Given the description of an element on the screen output the (x, y) to click on. 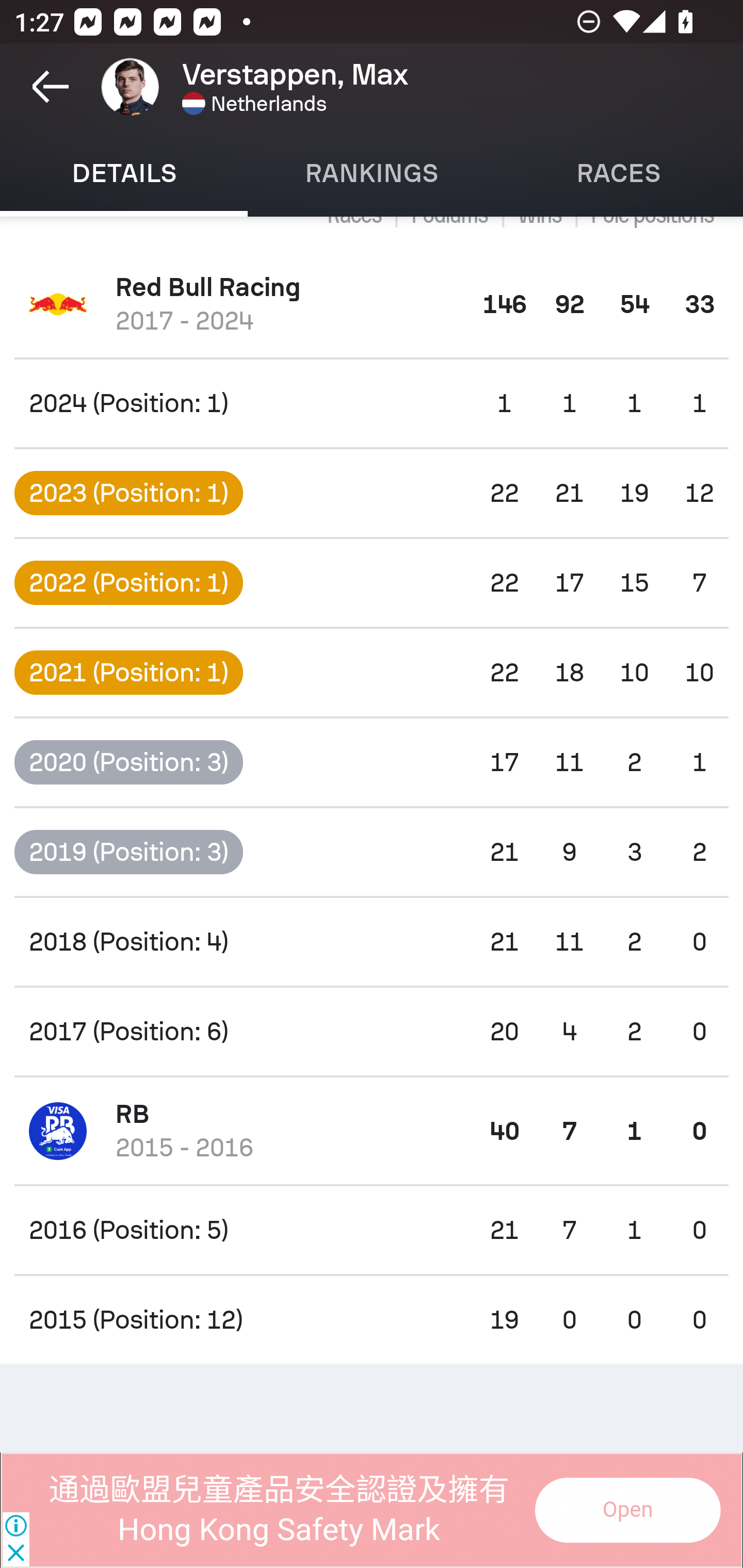
Navigate up (50, 86)
Rankings RANKINGS (371, 173)
Races RACES (619, 173)
Red Bull Racing 2017 - 2024 146 92 54 33 (371, 303)
2024 (Position: 1) 1 1 1 1 (371, 402)
2023 (Position: 1) 22 21 19 12 (371, 493)
2022 (Position: 1) 22 17 15 7 (371, 583)
2021 (Position: 1) 22 18 10 10 (371, 672)
2020 (Position: 3) 17 11 2 1 (371, 761)
2019 (Position: 3) 21 9 3 2 (371, 851)
2018 (Position: 4) 21 11 2 0 (371, 942)
2017 (Position: 6) 20 4 2 0 (371, 1031)
RB 2015 - 2016 40 7 1 0 (371, 1130)
2016 (Position: 5) 21 7 1 0 (371, 1229)
2015 (Position: 12) 19 0 0 0 (371, 1320)
